Given the description of an element on the screen output the (x, y) to click on. 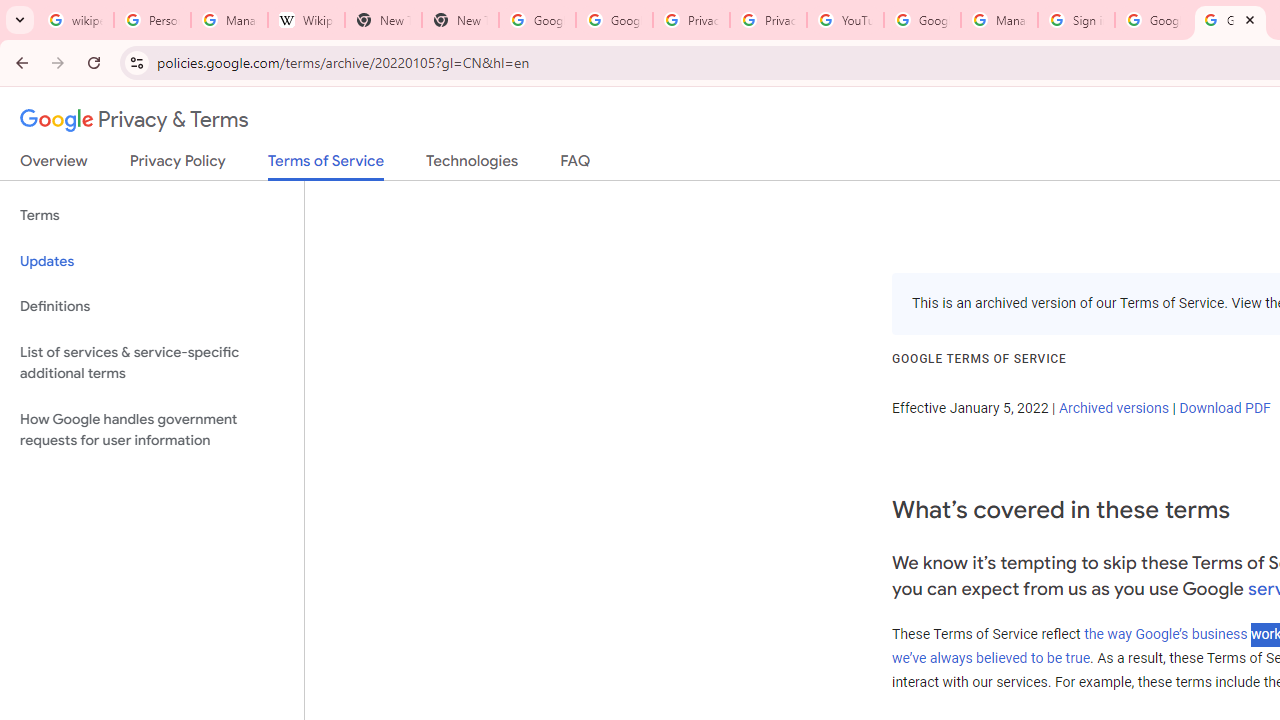
Archived versions (1113, 407)
Manage your Location History - Google Search Help (228, 20)
Google Drive: Sign-in (614, 20)
Definitions (152, 306)
Wikipedia:Edit requests - Wikipedia (306, 20)
